Given the description of an element on the screen output the (x, y) to click on. 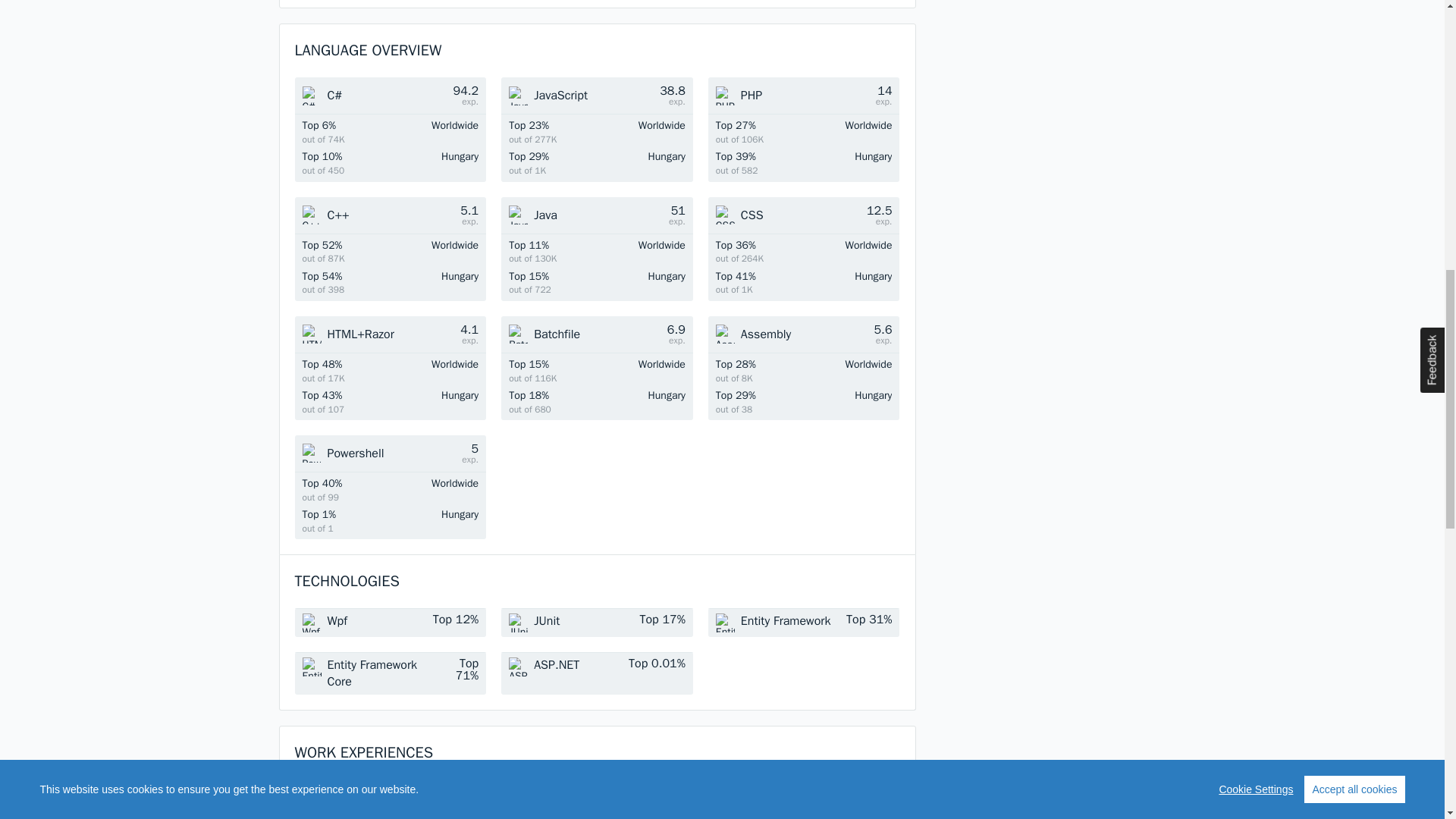
LANGUAGE OVERVIEW (367, 49)
